Given the description of an element on the screen output the (x, y) to click on. 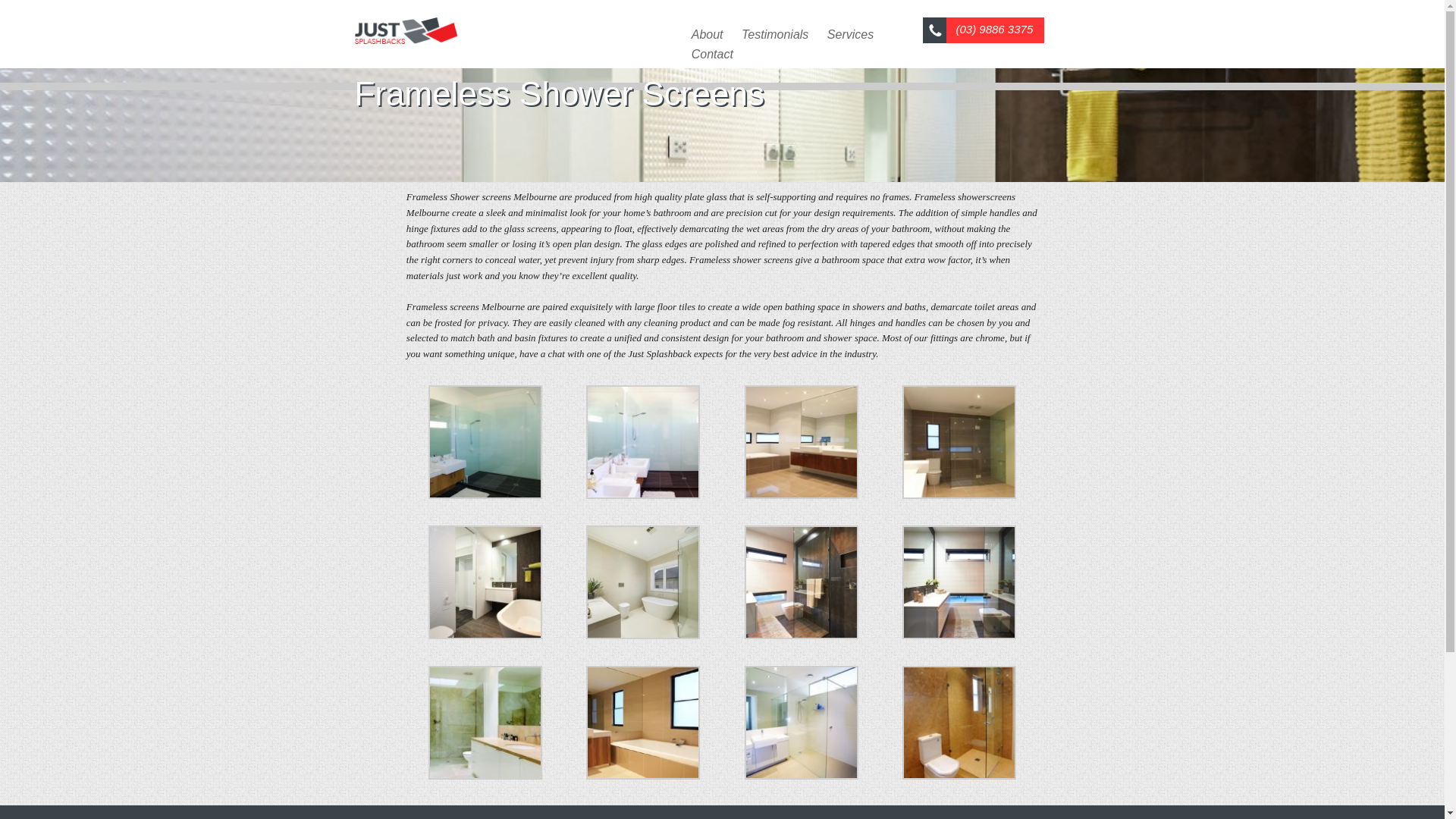
Testimonials Element type: text (774, 34)
Just Splashbacks Element type: hover (406, 26)
Contact Element type: text (712, 53)
Services Element type: text (850, 34)
About Element type: text (707, 34)
(03) 9886 3375 Element type: text (1005, 30)
